Given the description of an element on the screen output the (x, y) to click on. 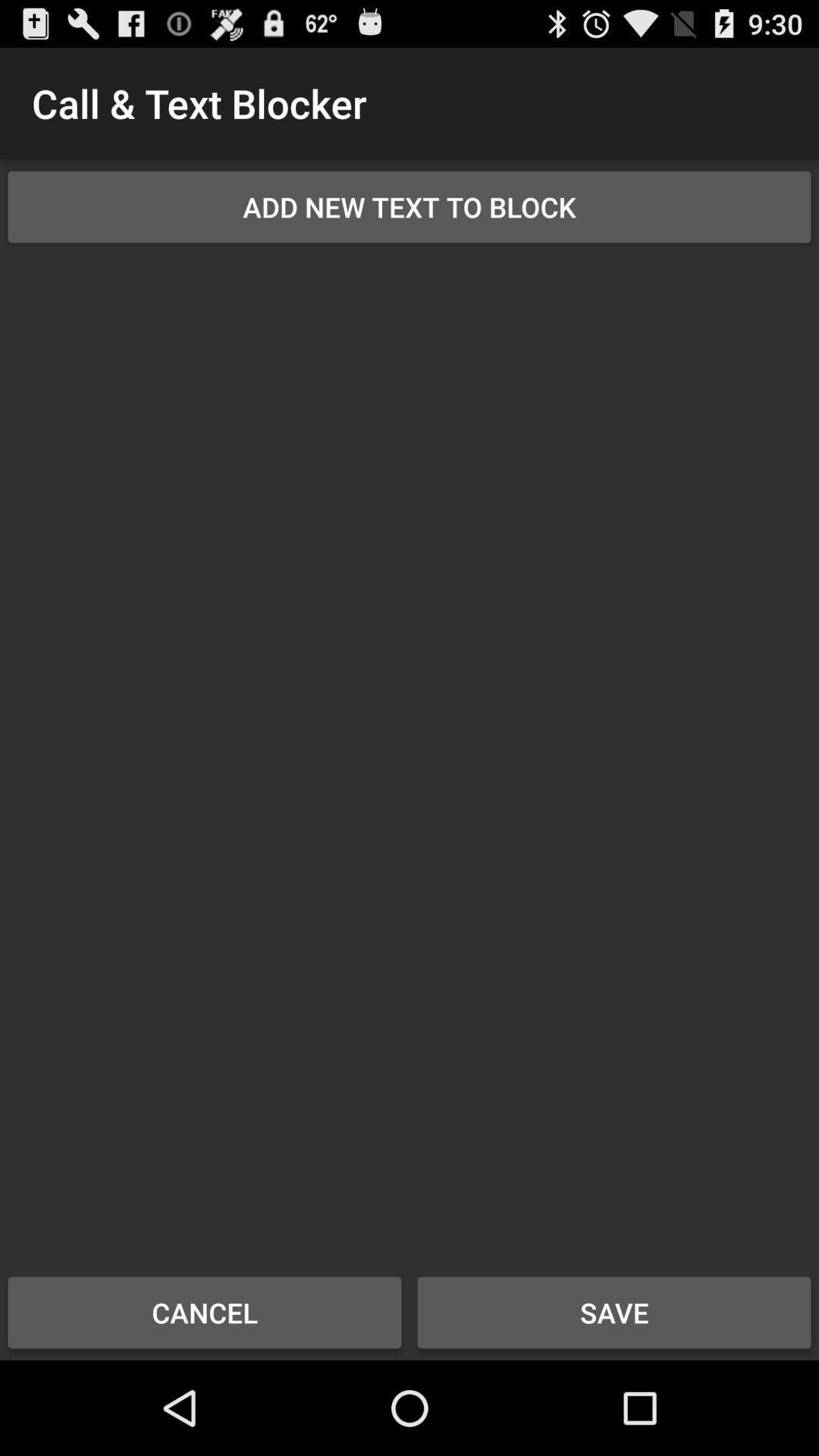
press the cancel item (204, 1312)
